Given the description of an element on the screen output the (x, y) to click on. 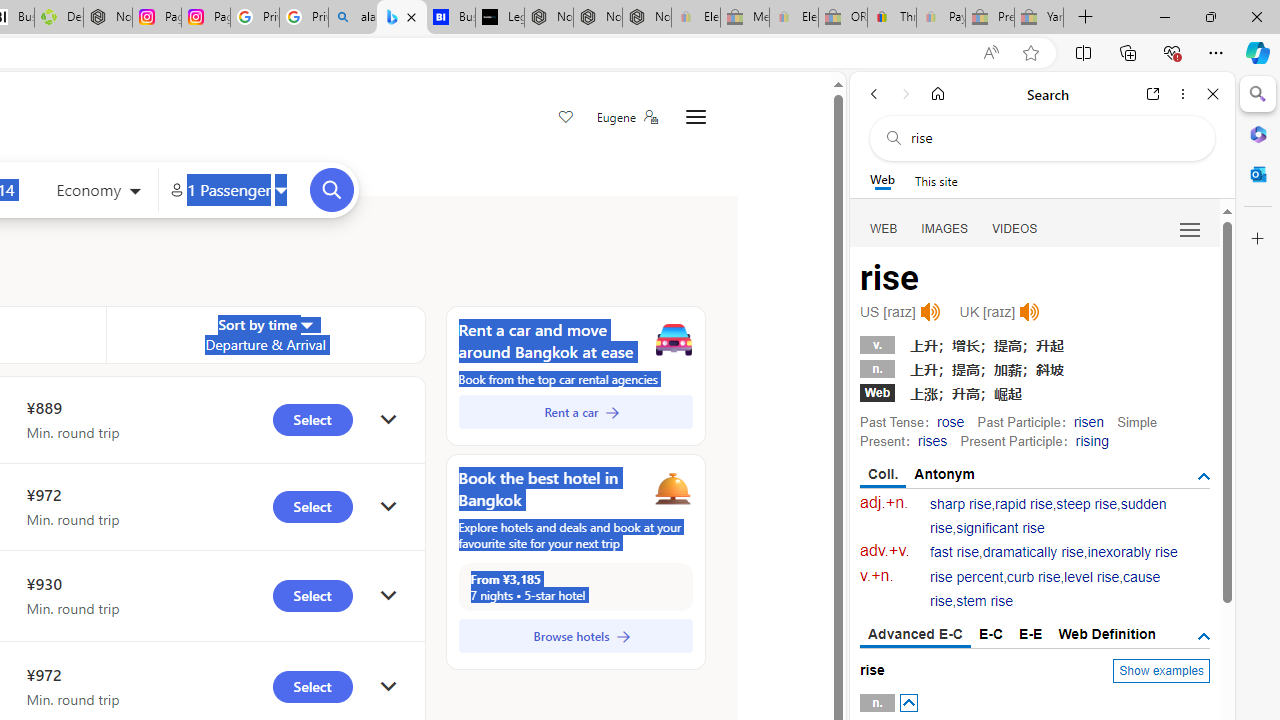
rising (1091, 440)
Select class of service (98, 192)
rises (932, 440)
Coll. (883, 475)
Search Filter, VIDEOS (1015, 228)
rose (950, 421)
Sorter (306, 324)
rapid rise (1023, 503)
1 Passenger (228, 189)
risen (1088, 421)
This site scope (936, 180)
curb rise (1033, 577)
